Given the description of an element on the screen output the (x, y) to click on. 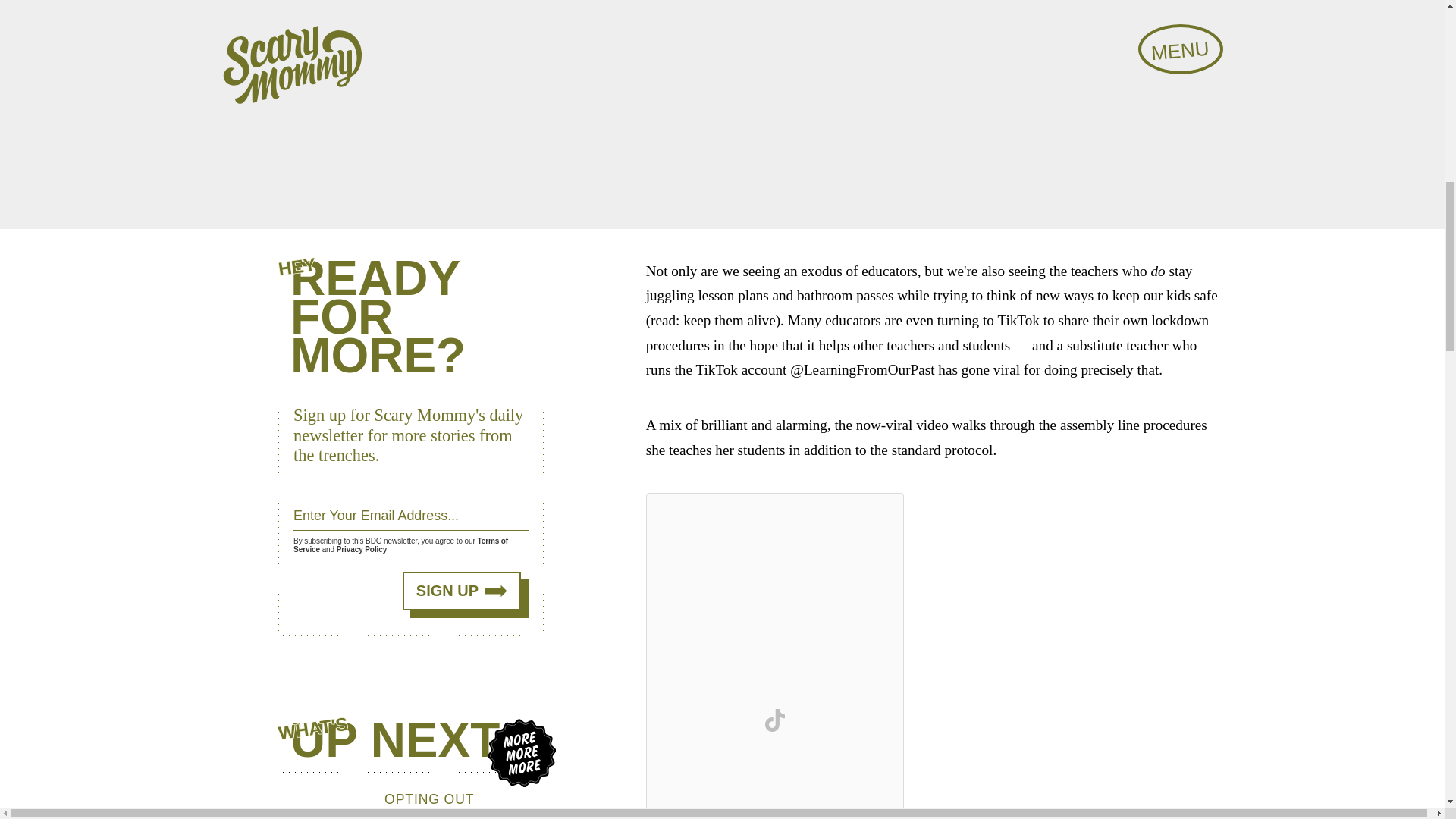
View on TikTok (775, 719)
Privacy Policy (361, 549)
Terms of Service (401, 545)
SIGN UP (462, 590)
